Given the description of an element on the screen output the (x, y) to click on. 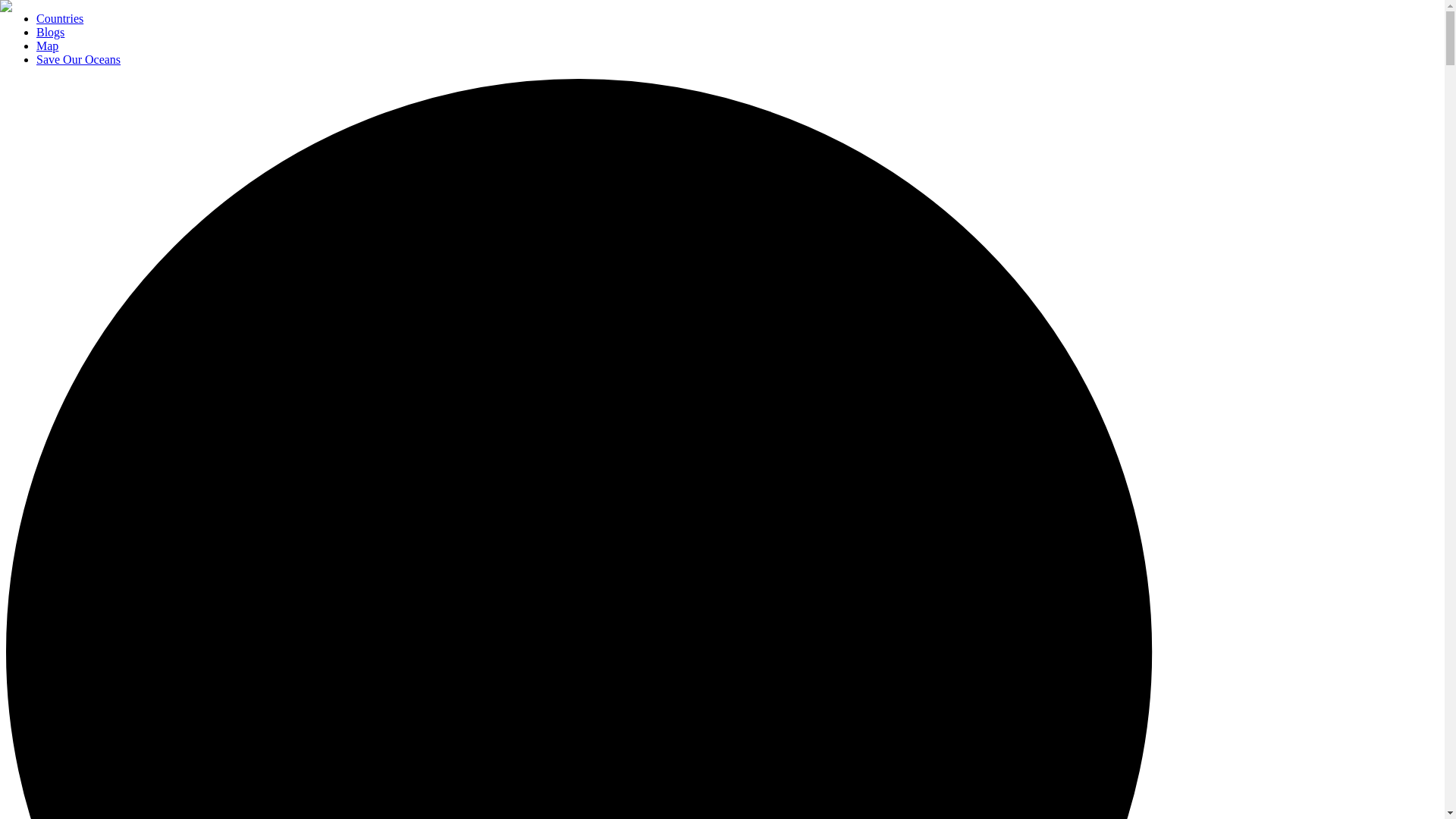
Map (47, 45)
Countries (59, 18)
Countries (59, 18)
Blogs (50, 31)
Map (47, 45)
Blogs (50, 31)
Save Our Oceans (78, 59)
Save Our Oceans (78, 59)
